Given the description of an element on the screen output the (x, y) to click on. 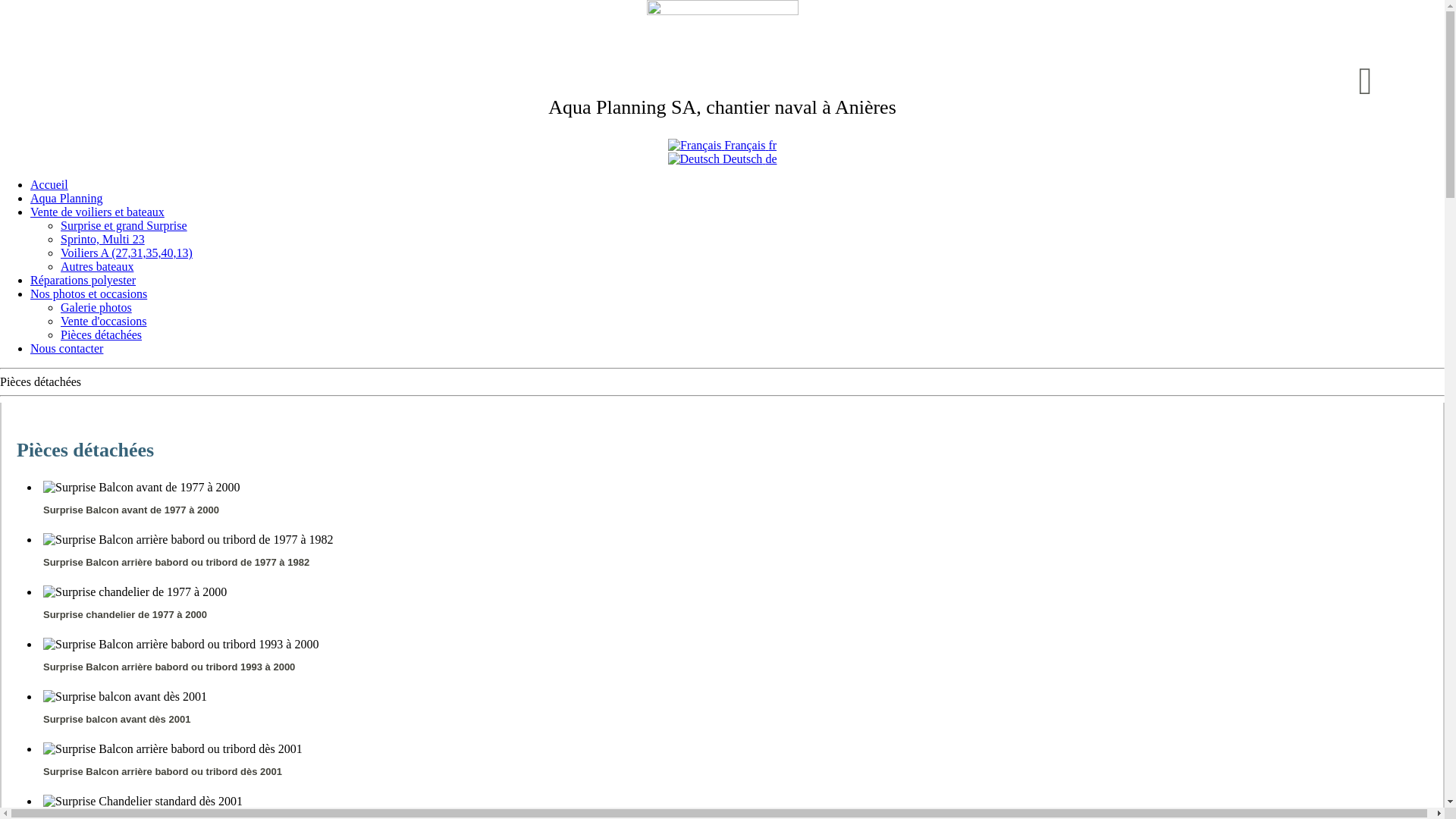
Aqua Planning Element type: text (66, 197)
Surprise et grand Surprise Element type: text (123, 225)
Accueil Element type: text (49, 184)
Vente d'occasions Element type: text (103, 320)
Nous contacter Element type: text (66, 348)
Voiliers A (27,31,35,40,13) Element type: text (126, 252)
Nos photos et occasions Element type: text (88, 293)
Vente de voiliers et bateaux Element type: text (97, 211)
Aqua Plann Element type: text (594, 107)
Autres bateaux Element type: text (96, 266)
Deutsch de Element type: text (721, 158)
Galerie photos Element type: text (95, 307)
Sprinto, Multi 23 Element type: text (102, 238)
